Given the description of an element on the screen output the (x, y) to click on. 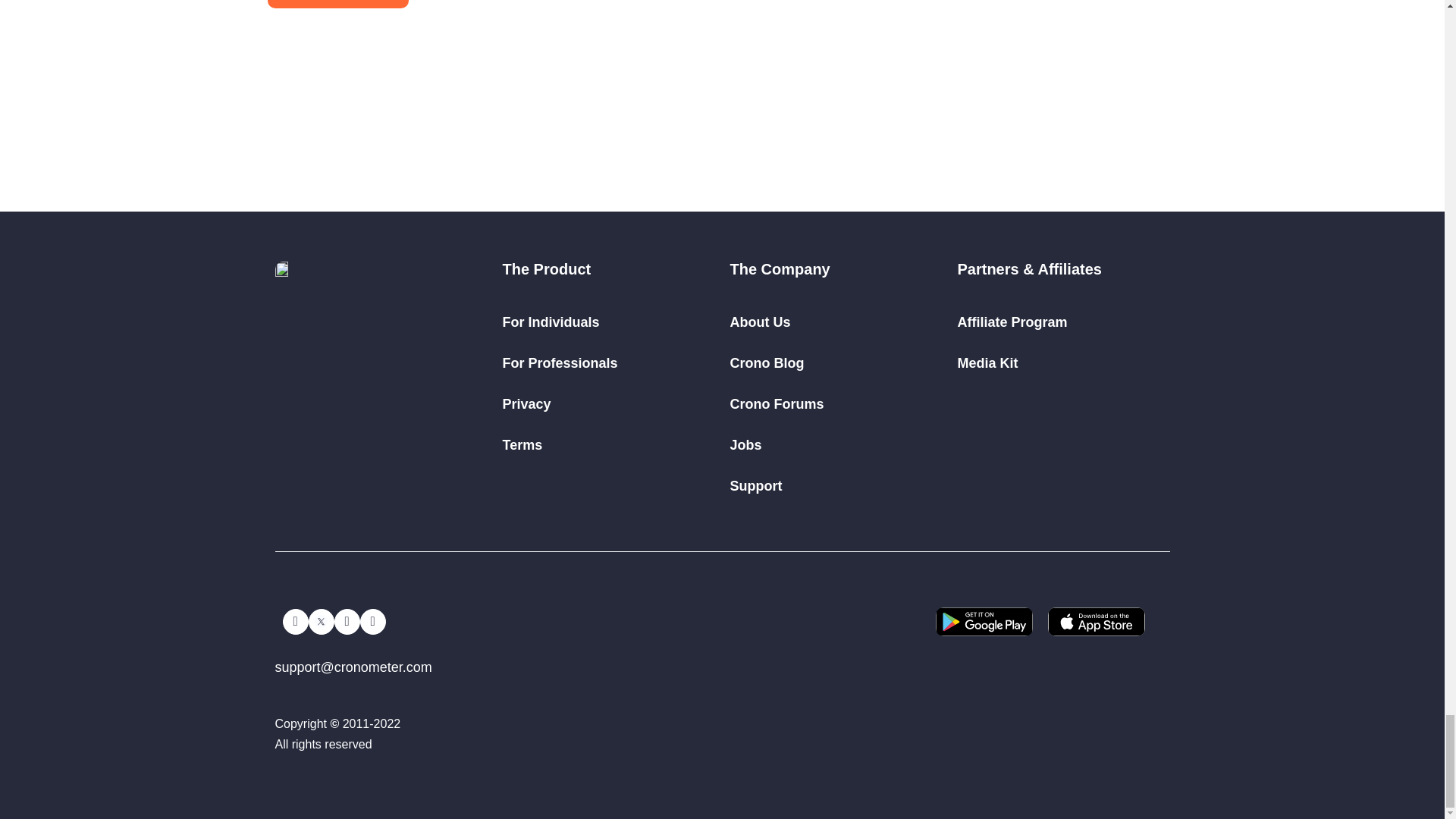
Learn More (307, 51)
About Us (759, 322)
SIGN UP (336, 4)
Terms (521, 444)
Privacy (526, 403)
Support (755, 485)
Crono Blog (766, 363)
Crono Forums (776, 403)
For Professionals (559, 363)
For Individuals (550, 322)
Jobs (745, 444)
